Given the description of an element on the screen output the (x, y) to click on. 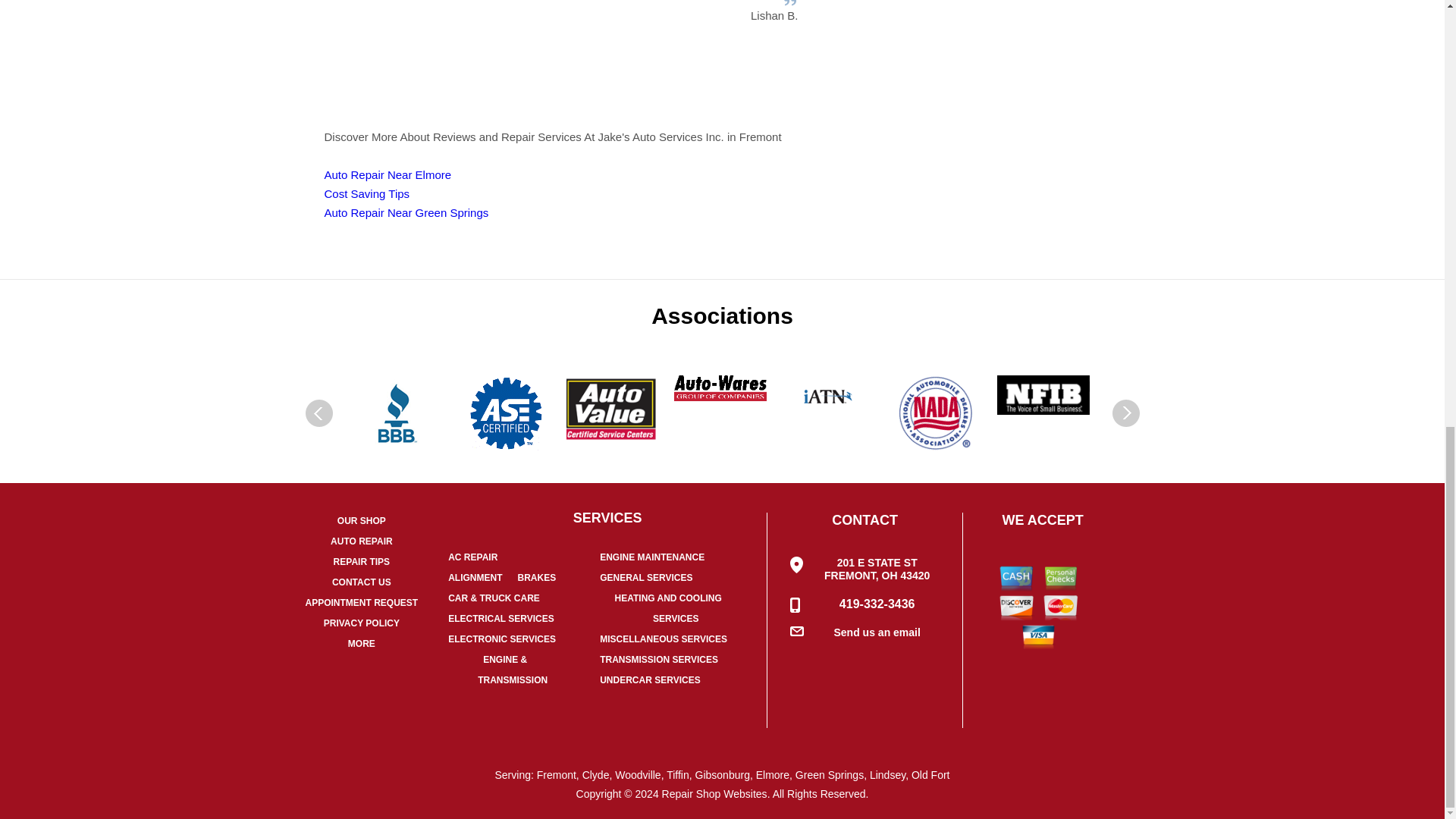
Auto Repair Near Green Springs (406, 212)
Auto Repair Near Elmore (387, 174)
Cost Saving Tips (367, 193)
